Given the description of an element on the screen output the (x, y) to click on. 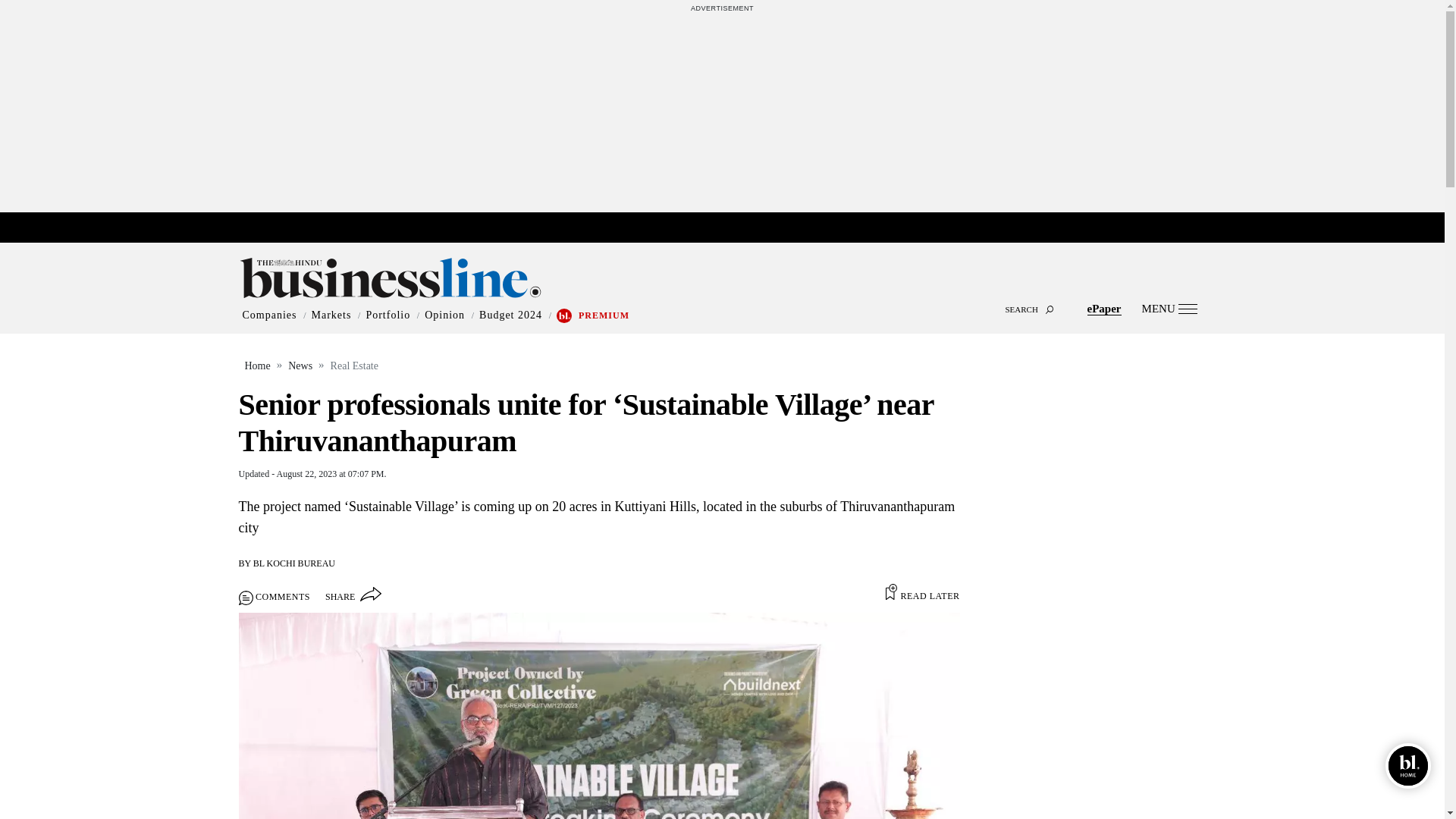
Markets (330, 315)
SEARCH (721, 295)
Opinion (444, 315)
ePaper (1104, 308)
marketupdate (729, 228)
MENU (1168, 308)
Budget 2024 (510, 315)
Portfolio (387, 315)
